Given the description of an element on the screen output the (x, y) to click on. 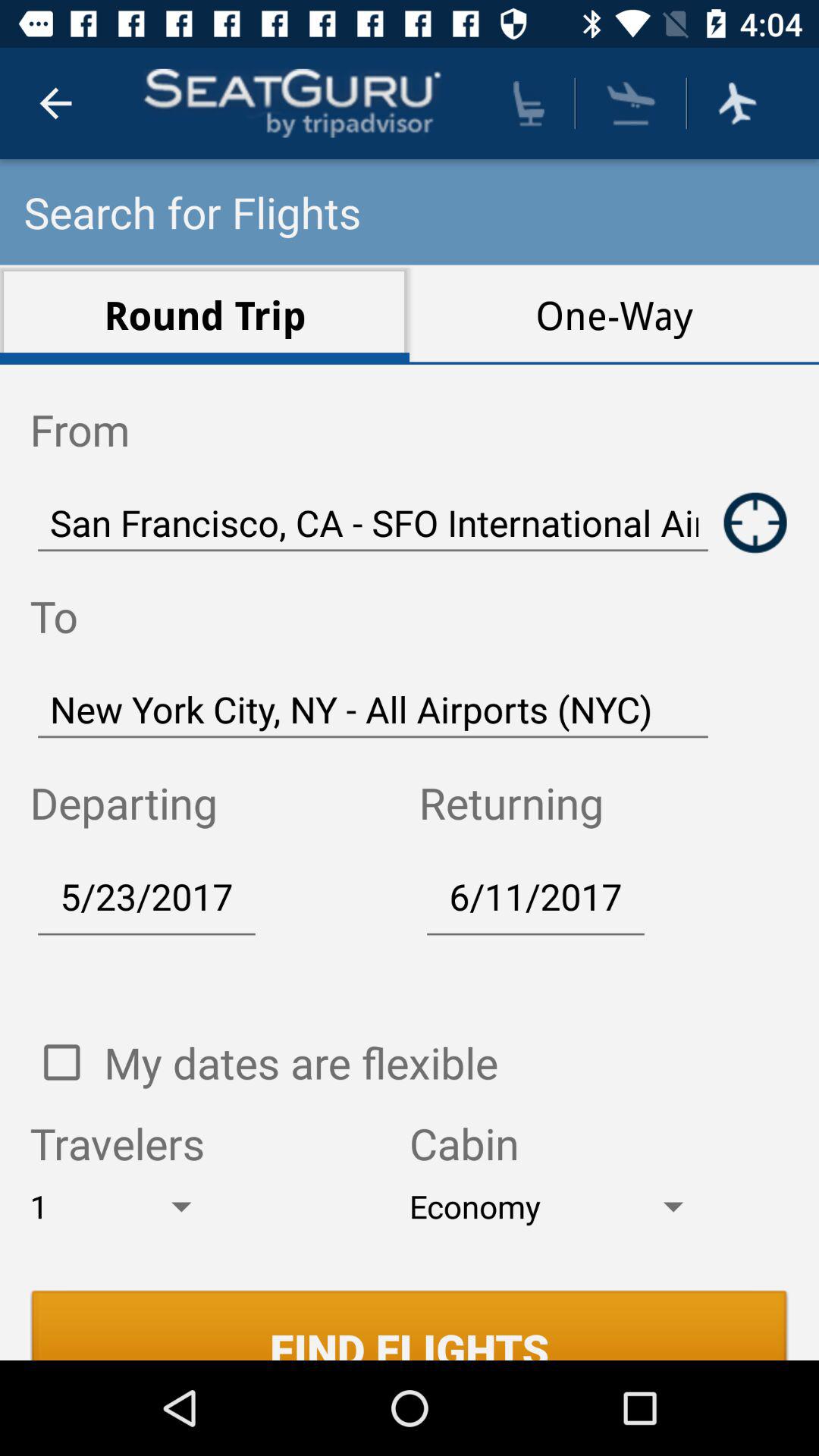
shows round trip button (755, 522)
